Given the description of an element on the screen output the (x, y) to click on. 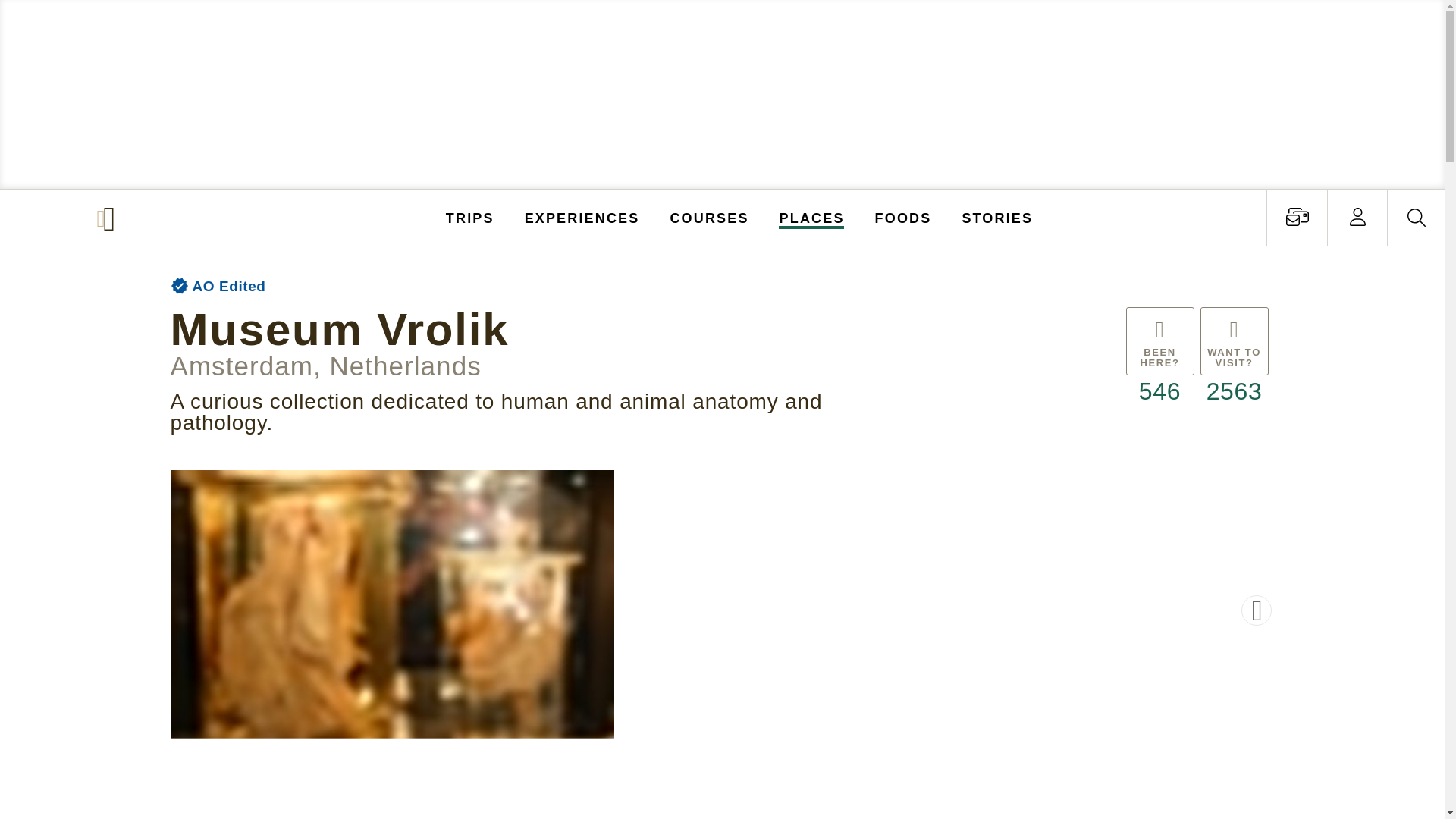
TRIPS (469, 217)
EXPERIENCES (582, 217)
PLACES (812, 217)
COURSES (707, 217)
